Given the description of an element on the screen output the (x, y) to click on. 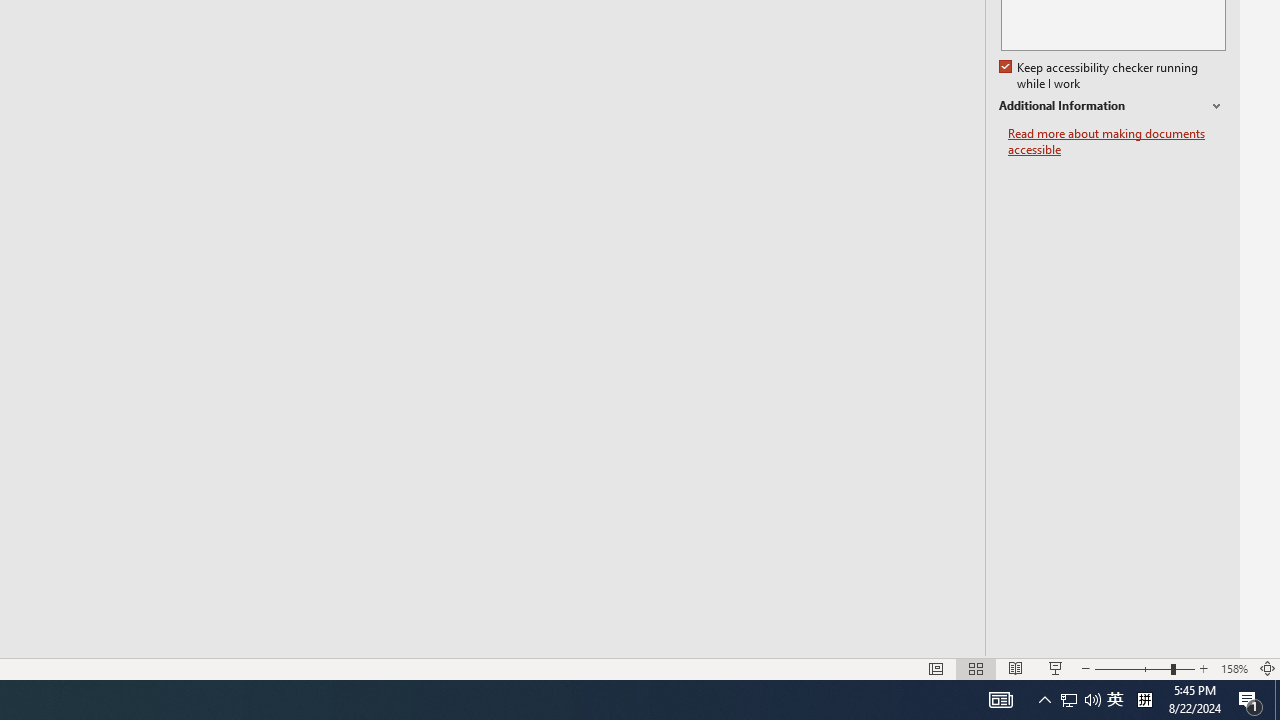
Zoom 158% (1234, 668)
Keep accessibility checker running while I work (1099, 76)
Read more about making documents accessible (1117, 142)
Additional Information (1112, 106)
